Given the description of an element on the screen output the (x, y) to click on. 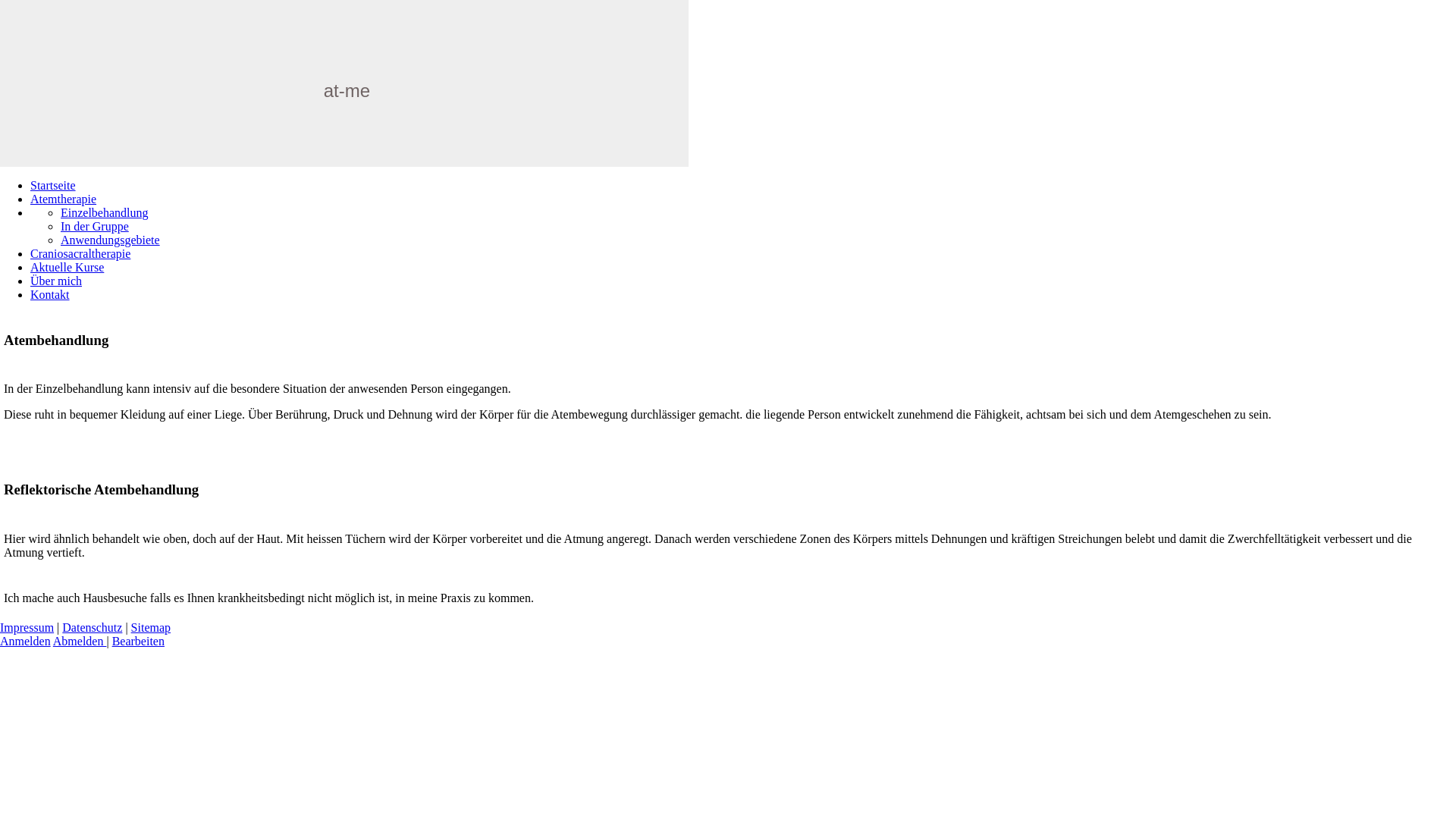
Impressum Element type: text (26, 627)
Craniosacraltherapie Element type: text (80, 253)
Abmelden Element type: text (79, 640)
Kontakt Element type: text (49, 294)
Sitemap Element type: text (150, 627)
Anwendungsgebiete Element type: text (110, 239)
Startseite Element type: text (52, 184)
Atemtherapie Element type: text (63, 198)
Bearbeiten Element type: text (138, 640)
Anmelden Element type: text (25, 640)
Datenschutz Element type: text (92, 627)
Einzelbehandlung Element type: text (104, 212)
In der Gruppe Element type: text (94, 225)
Aktuelle Kurse Element type: text (66, 266)
